Given the description of an element on the screen output the (x, y) to click on. 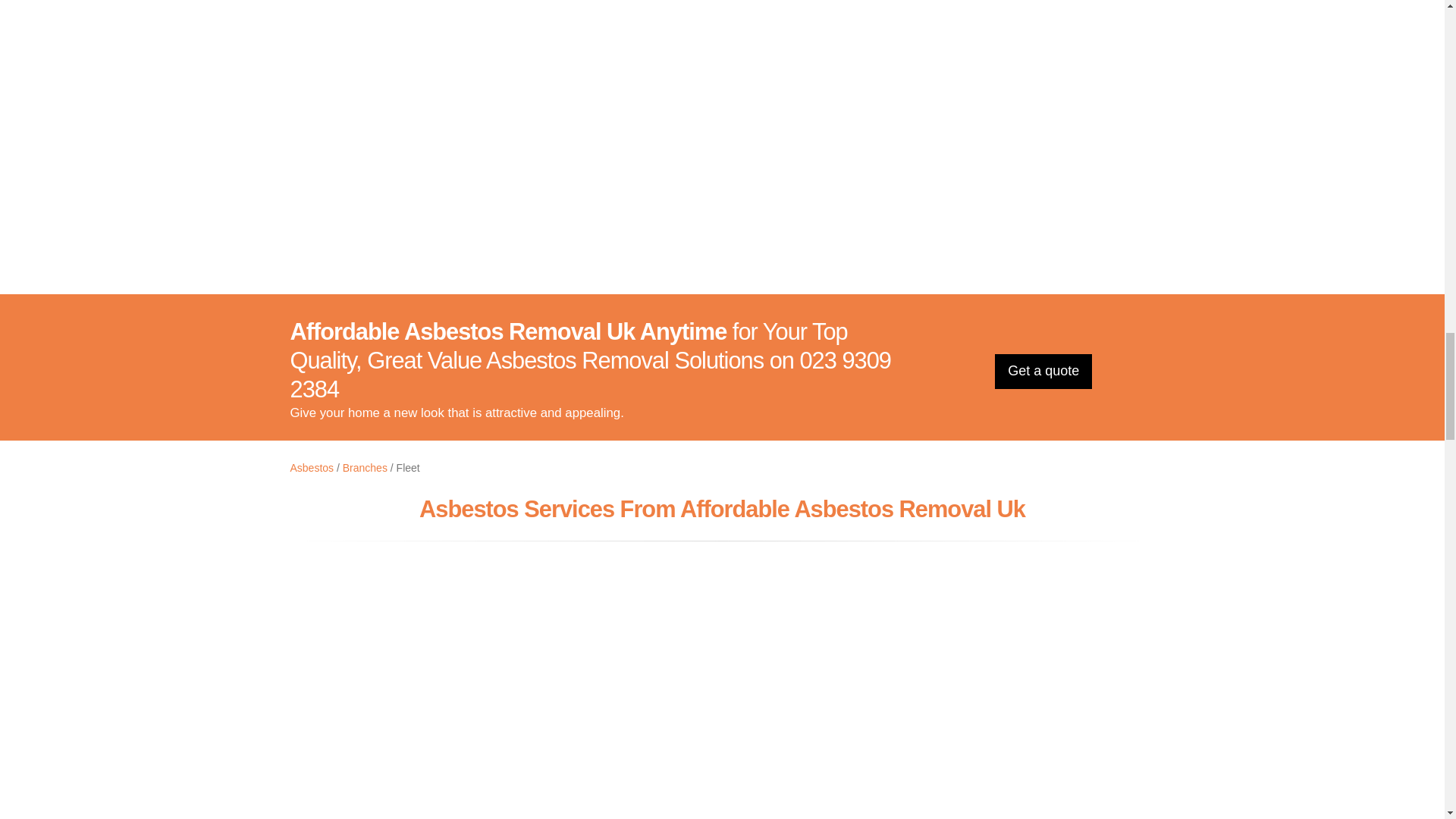
Asbestos (311, 467)
Branches (364, 467)
Asbestos Disposal UK United Kingdom (721, 124)
Get a quote (1043, 371)
